Given the description of an element on the screen output the (x, y) to click on. 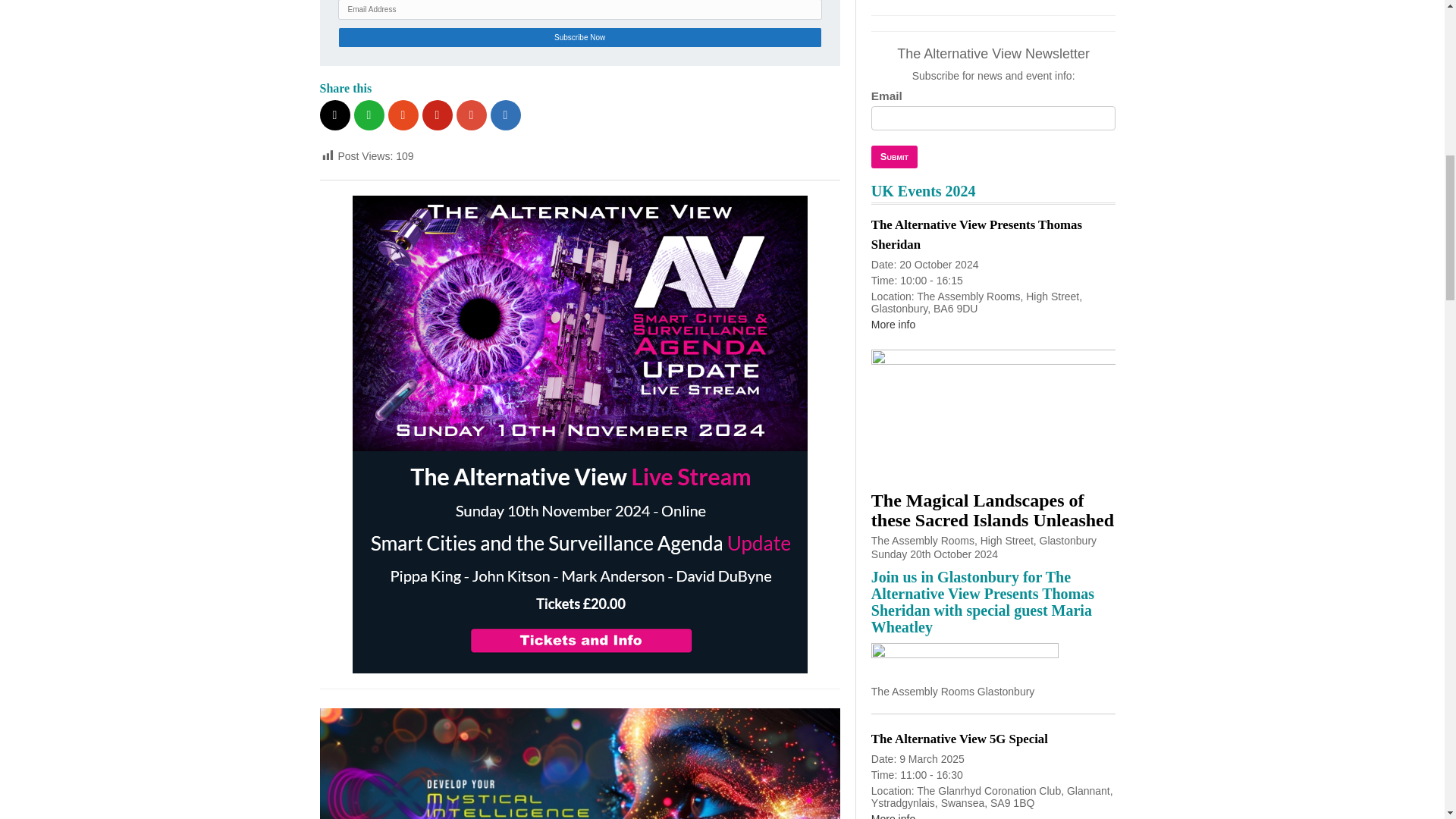
More info (892, 816)
Submit (893, 156)
More info (892, 324)
Subscribe Now (579, 37)
Subscribe Now (579, 37)
